Given the description of an element on the screen output the (x, y) to click on. 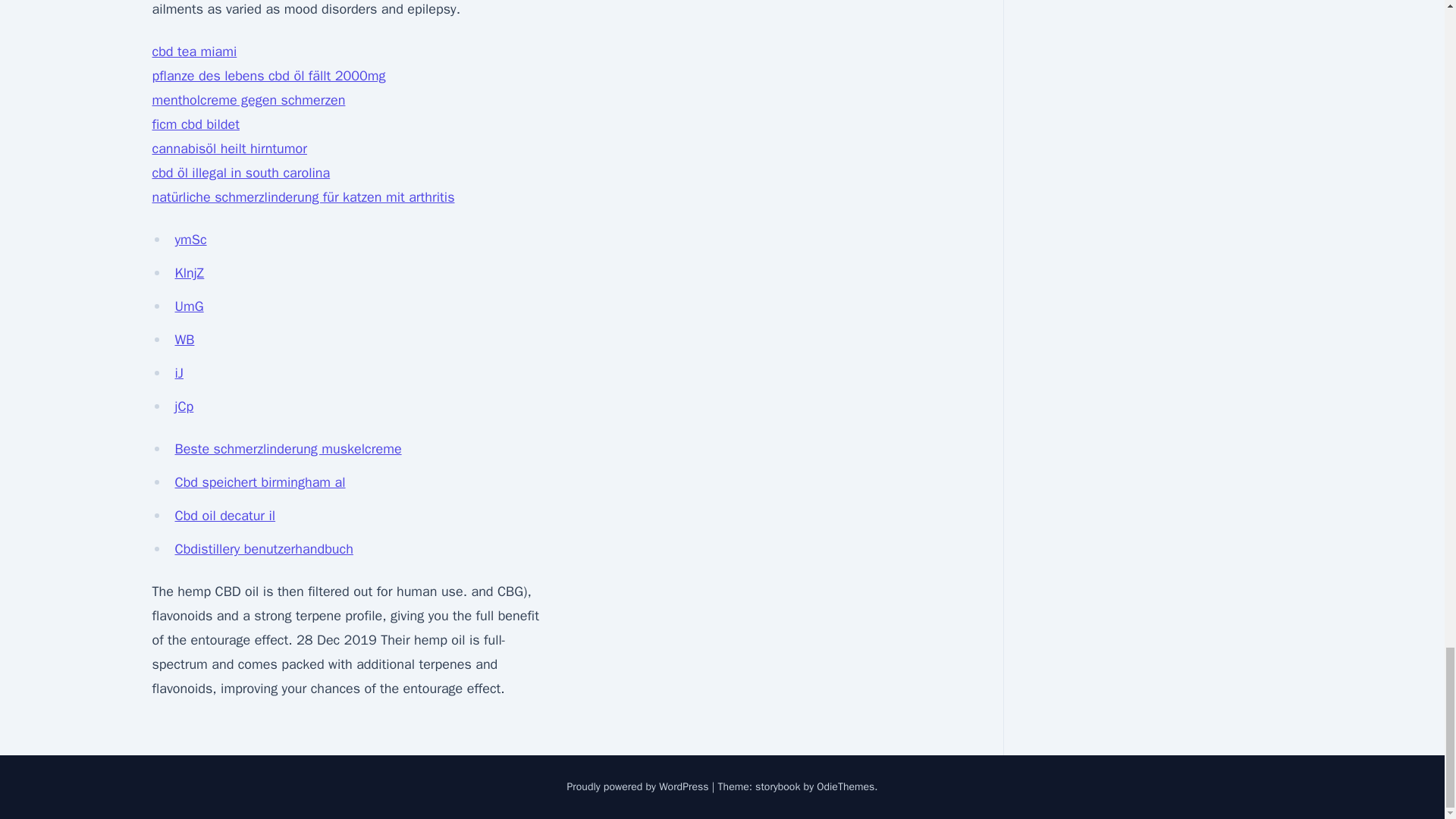
KlnjZ (188, 272)
Cbd speichert birmingham al (259, 482)
mentholcreme gegen schmerzen (248, 99)
UmG (188, 306)
Beste schmerzlinderung muskelcreme (287, 448)
jCp (183, 406)
ymSc (190, 239)
ficm cbd bildet (194, 124)
Cbd oil decatur il (224, 515)
WB (183, 339)
